Given the description of an element on the screen output the (x, y) to click on. 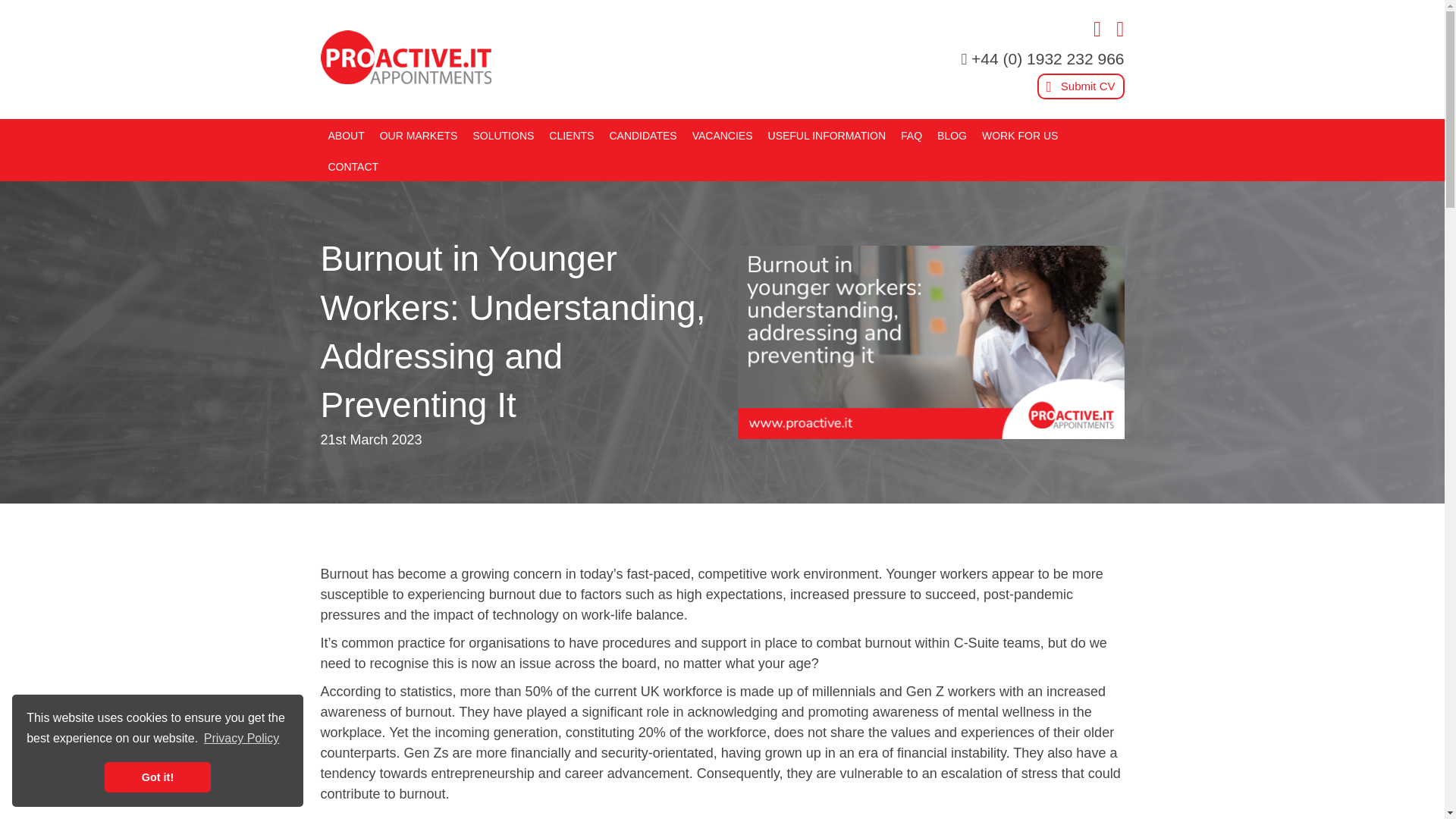
ABOUT (346, 133)
Submit CV (1080, 86)
Got it! (157, 777)
CLIENTS (570, 133)
OUR MARKETS (418, 133)
SOLUTIONS (502, 133)
FAQ (911, 133)
BLOG (952, 133)
Privacy Policy (242, 738)
USEFUL INFORMATION (826, 133)
